Given the description of an element on the screen output the (x, y) to click on. 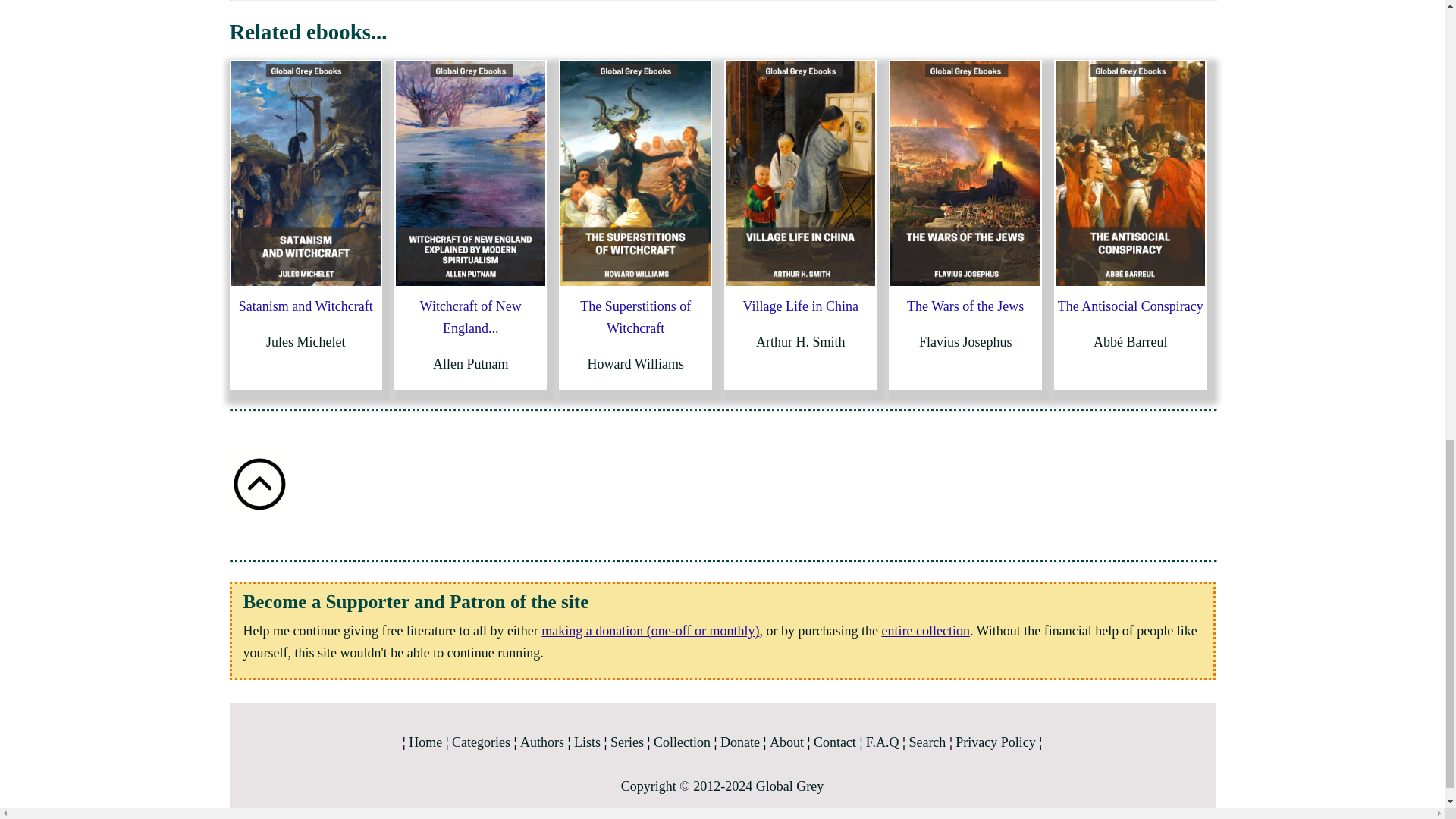
Village Life in China (800, 305)
The Superstitions of Witchcraft by Howard Williams (635, 173)
Satanism and Witchcraft (305, 305)
Village Life in China by Arthur H. Smith (800, 173)
Witchcraft of New England... (470, 316)
Satanism and Witchcraft by Jules Michelet (305, 173)
The Superstitions of Witchcraft (634, 316)
